Given the description of an element on the screen output the (x, y) to click on. 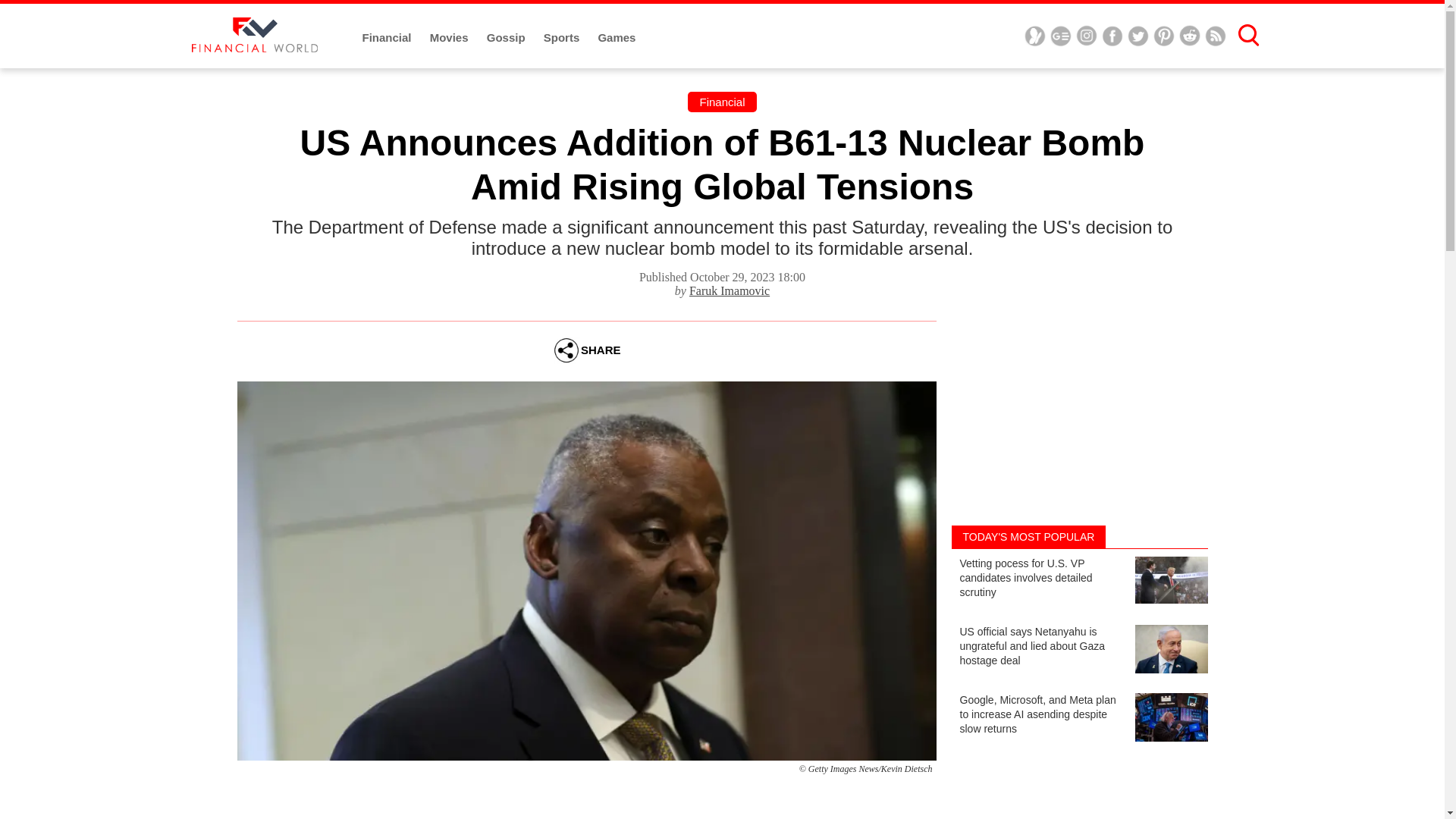
Sports (563, 37)
Financial (388, 37)
Faruk Imamovic (729, 290)
Gossip (507, 37)
Financial (721, 101)
Movies (450, 37)
Games (615, 37)
